Given the description of an element on the screen output the (x, y) to click on. 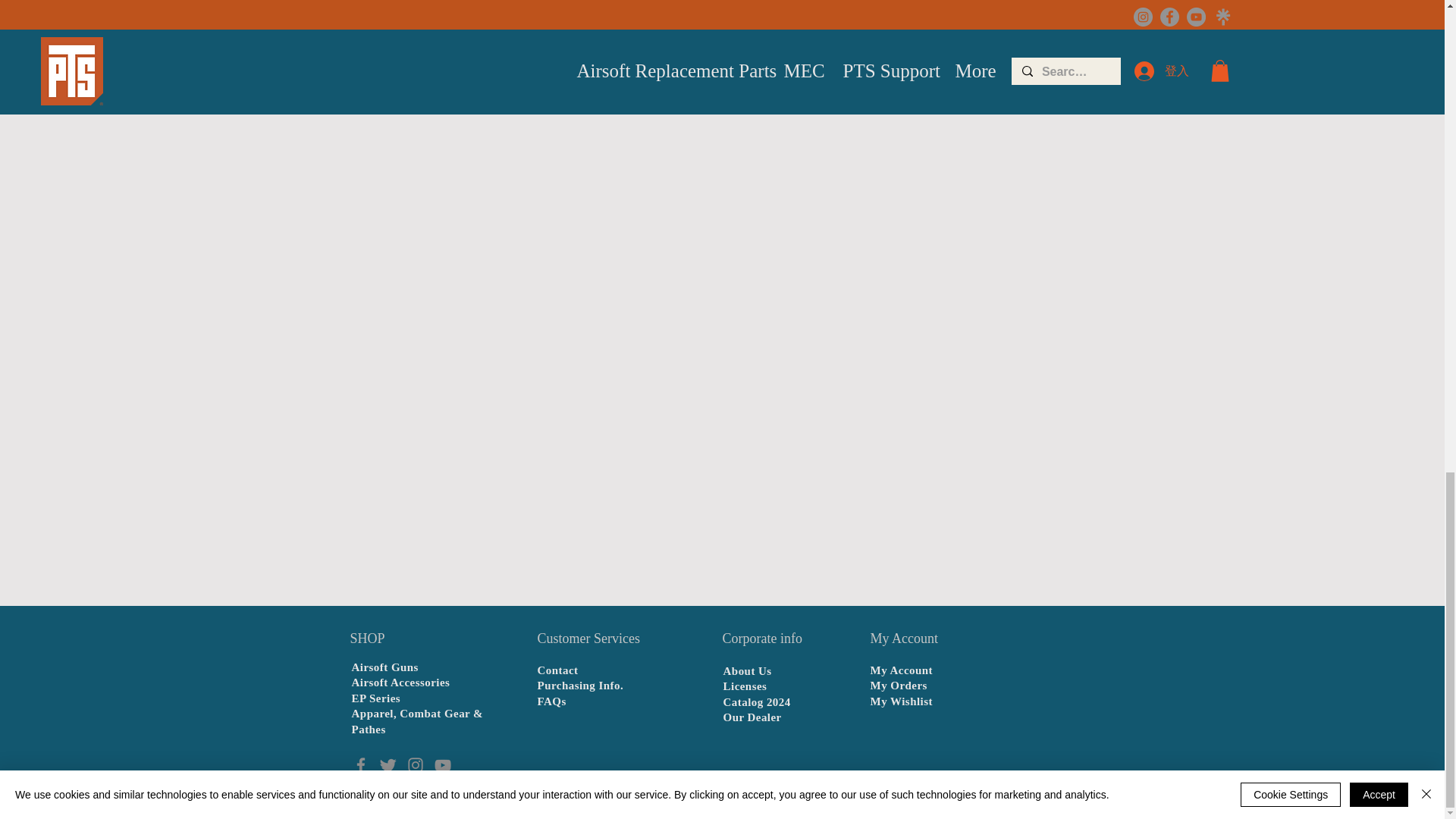
Purchasing Info. (580, 685)
About Us (747, 671)
Airsoft Guns (385, 666)
Airsoft Accessories (400, 682)
FAQs (551, 701)
EP Series (376, 698)
Contact (557, 670)
